Given the description of an element on the screen output the (x, y) to click on. 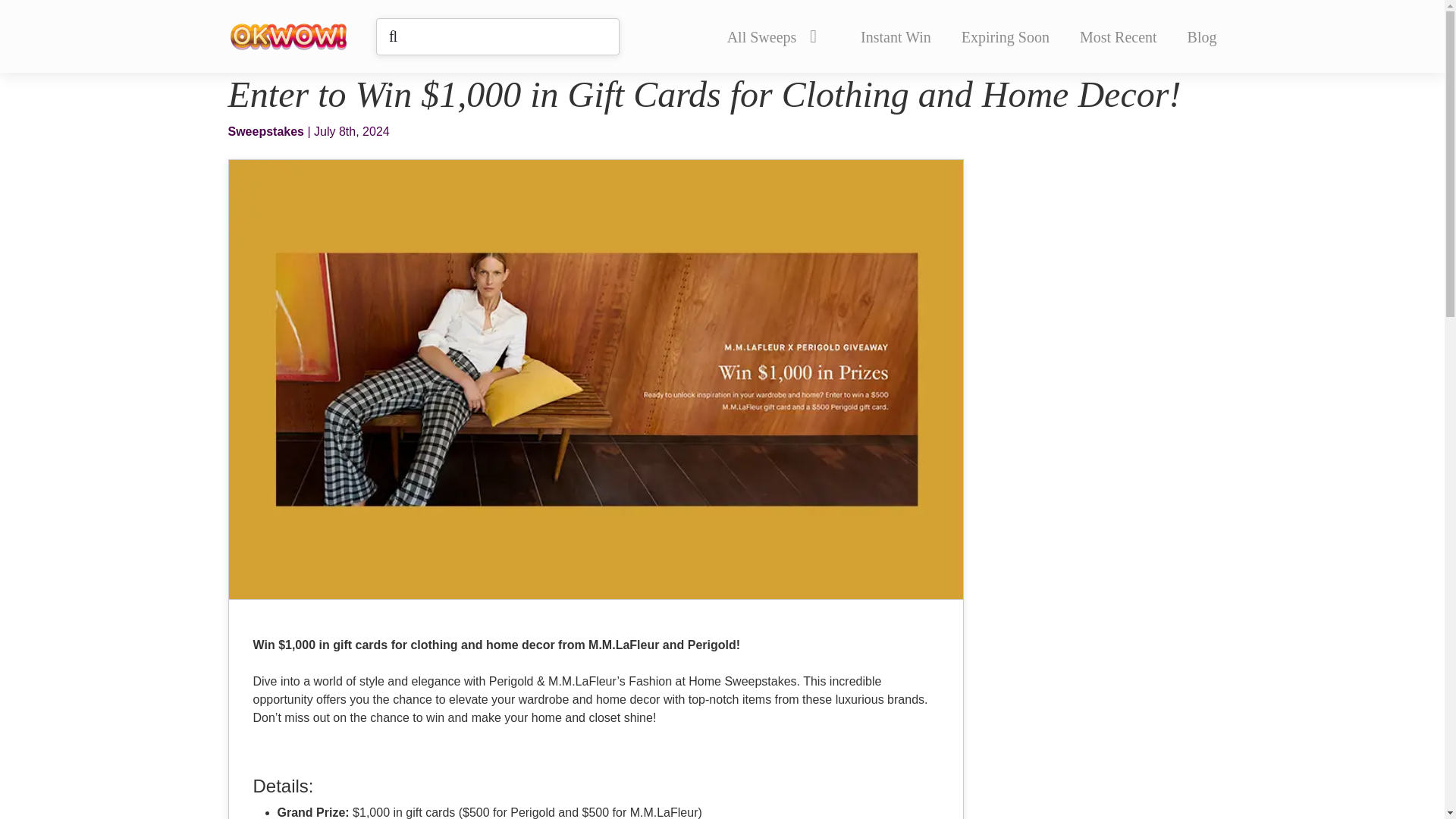
Most Recent (1118, 36)
Expiring Soon (1004, 36)
Instant Win (895, 36)
All Sweeps (771, 36)
